Given the description of an element on the screen output the (x, y) to click on. 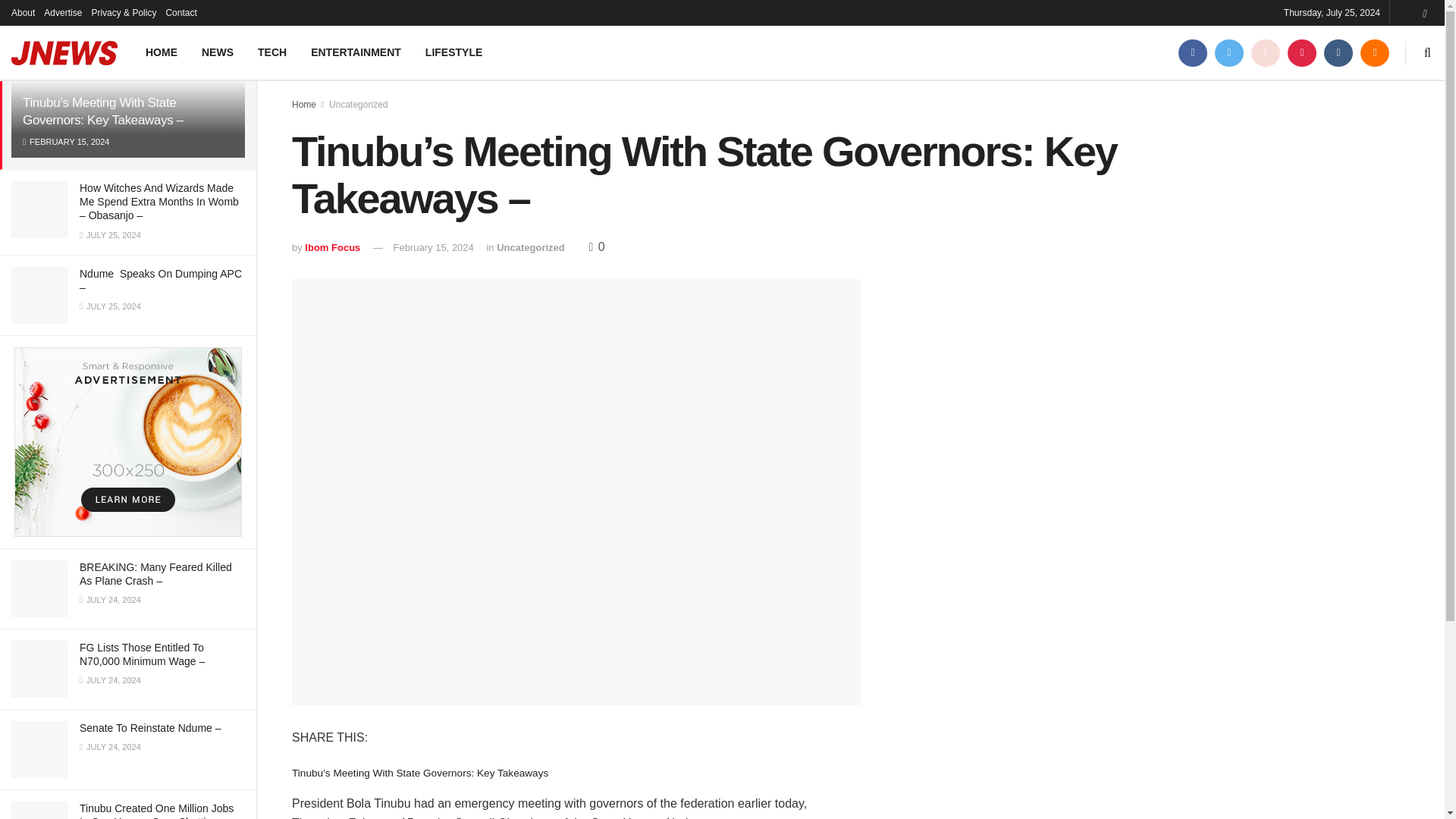
About (22, 12)
Advertise (62, 12)
Filter (227, 13)
